Given the description of an element on the screen output the (x, y) to click on. 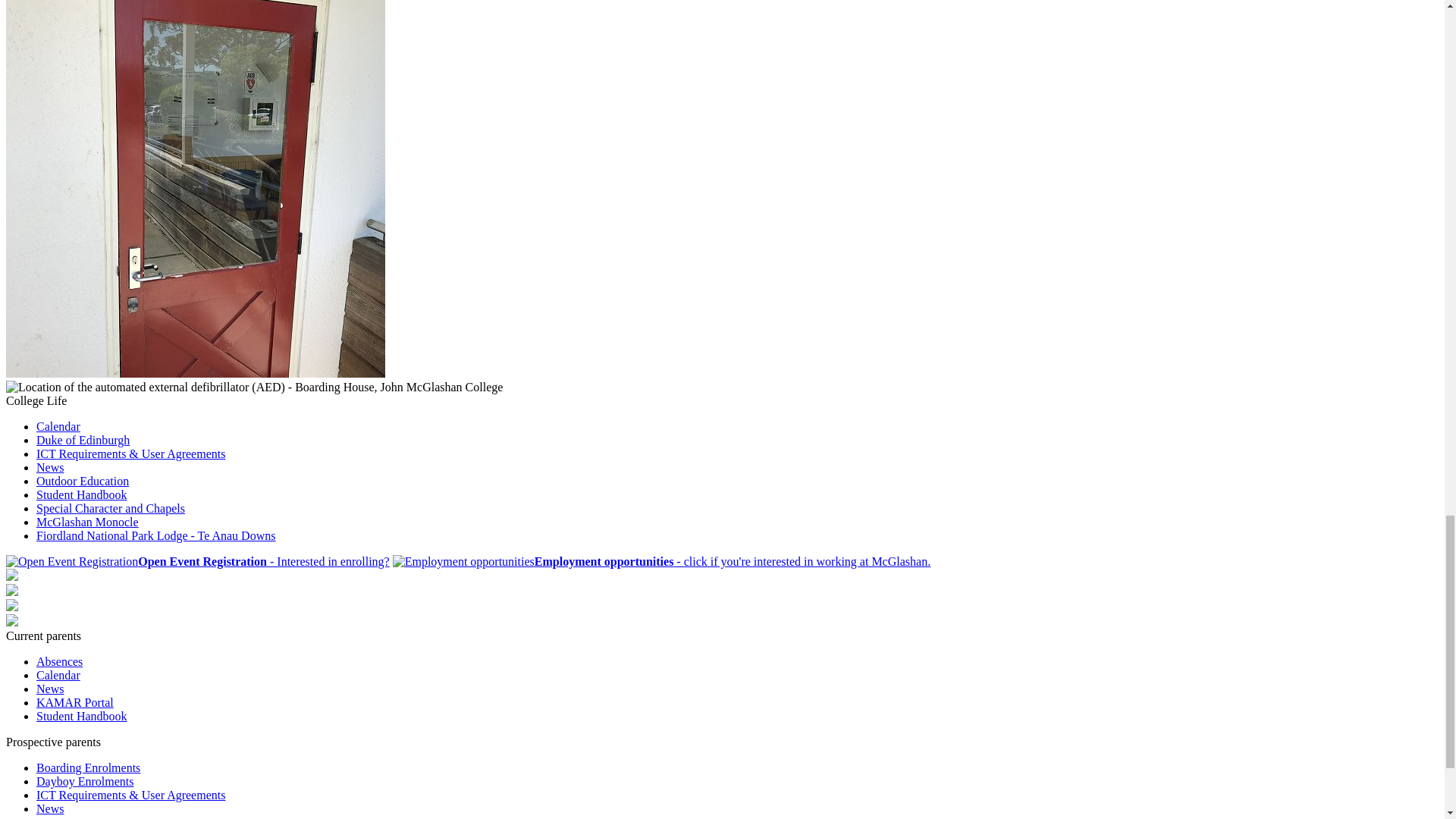
Fiordland National Park Lodge - Te Anau Downs (155, 535)
Dayboy Enrolments (84, 780)
Special Character and Chapels (110, 508)
News (50, 467)
Student Handbook (82, 494)
Boarding Enrolments (87, 767)
Open Event Registration - Interested in enrolling? (197, 561)
Student Handbook (82, 716)
Calendar (58, 426)
Duke of Edinburgh (82, 440)
